Given the description of an element on the screen output the (x, y) to click on. 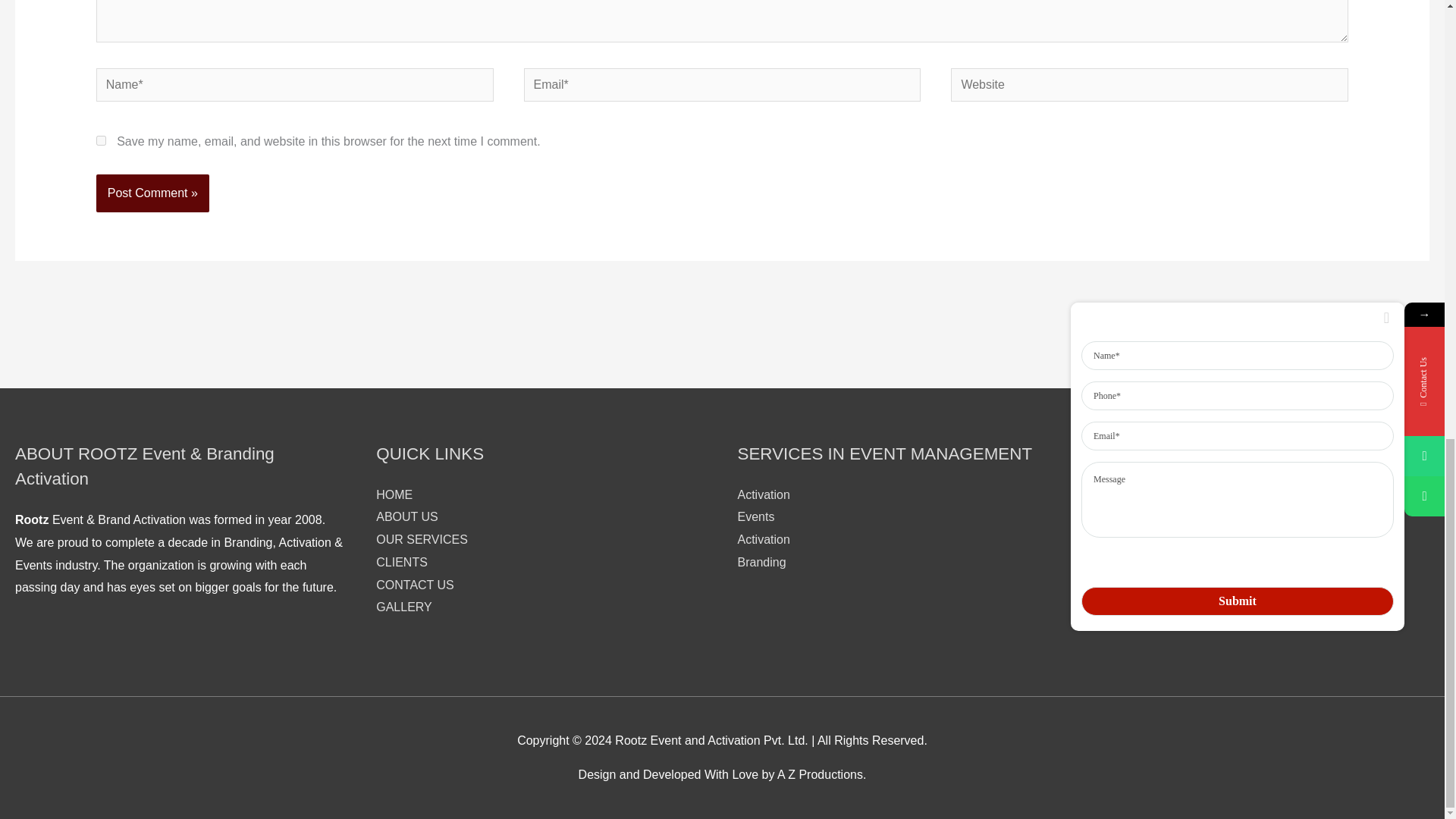
HOME (393, 494)
OUR SERVICES (421, 539)
yes (101, 140)
ABOUT US (406, 516)
